Given the description of an element on the screen output the (x, y) to click on. 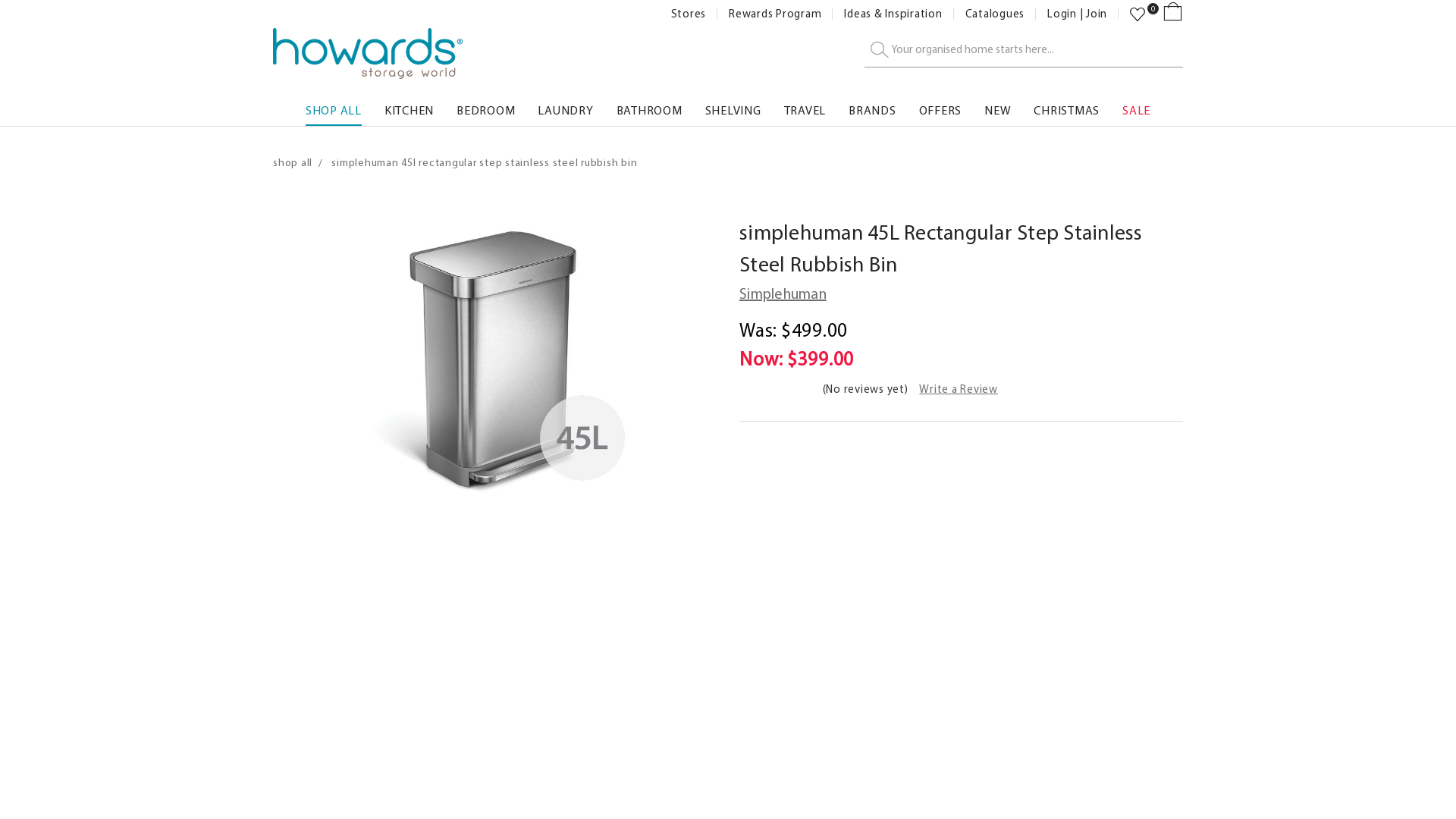
0 Element type: text (1137, 13)
SALE Element type: text (1136, 106)
Stores Element type: text (688, 13)
Howards Storage World 03 Element type: hover (367, 53)
LAUNDRY Element type: text (565, 106)
Simplehuman Element type: text (782, 293)
Login Element type: text (1061, 13)
Write a Review Element type: text (958, 388)
TRAVEL Element type: text (805, 106)
BRANDS Element type: text (872, 106)
OFFERS Element type: text (940, 106)
Join Element type: text (1096, 13)
BATHROOM Element type: text (649, 106)
SHOP ALL Element type: text (333, 106)
KITCHEN Element type: text (408, 106)
Ideas & Inspiration Element type: text (892, 13)
Rewards Program Element type: text (774, 13)
NEW Element type: text (997, 106)
Catalogues Element type: text (995, 13)
BEDROOM Element type: text (485, 106)
SHELVING Element type: text (733, 106)
shop all Element type: text (292, 162)
CHRISTMAS Element type: text (1066, 106)
